Given the description of an element on the screen output the (x, y) to click on. 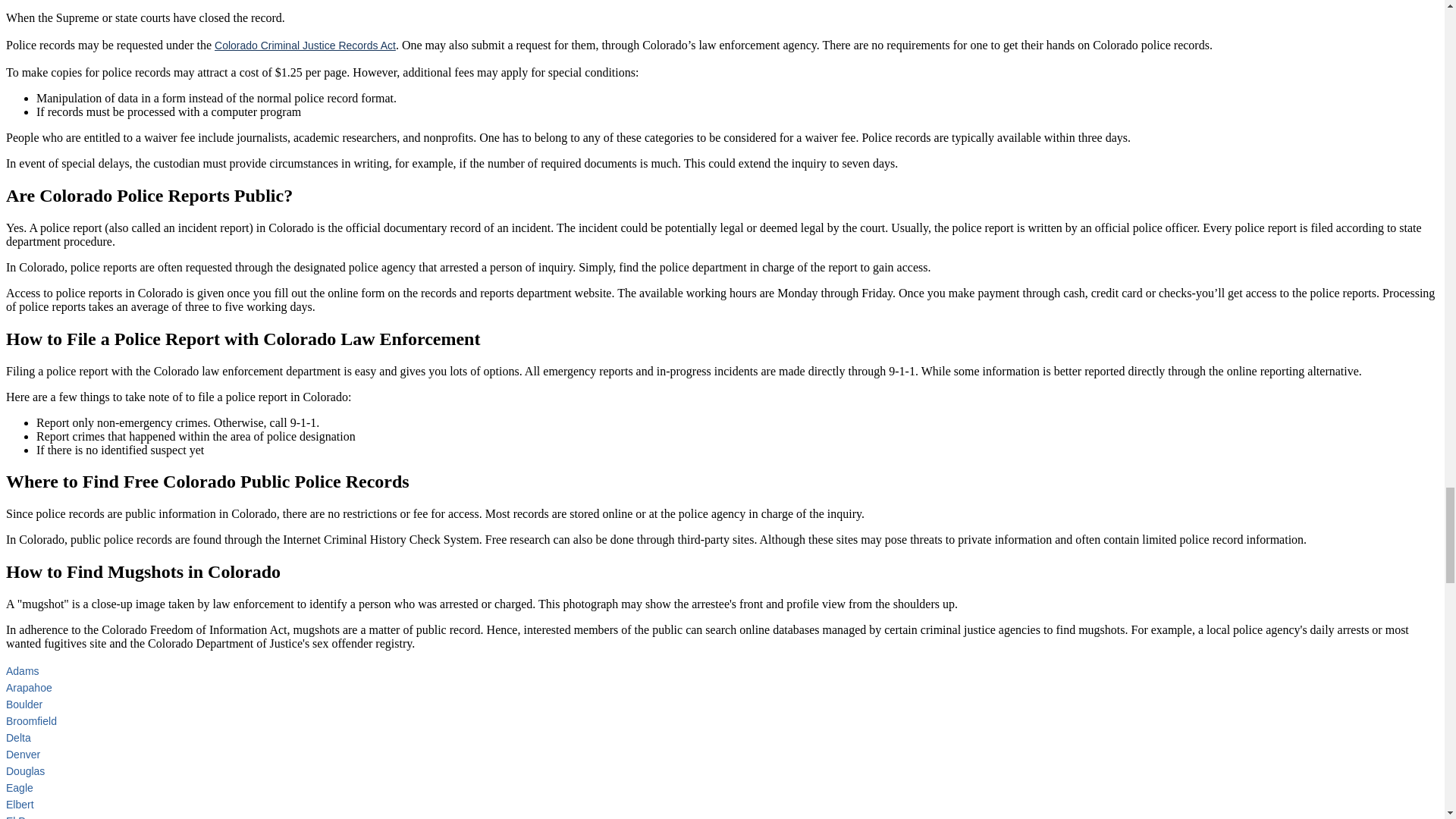
Boulder (23, 704)
Eagle (19, 787)
Adams (22, 671)
Denver (22, 754)
Colorado Criminal Justice Records Act (305, 45)
Delta (17, 737)
Douglas (25, 770)
Broomfield (30, 720)
Arapahoe (28, 687)
